Given the description of an element on the screen output the (x, y) to click on. 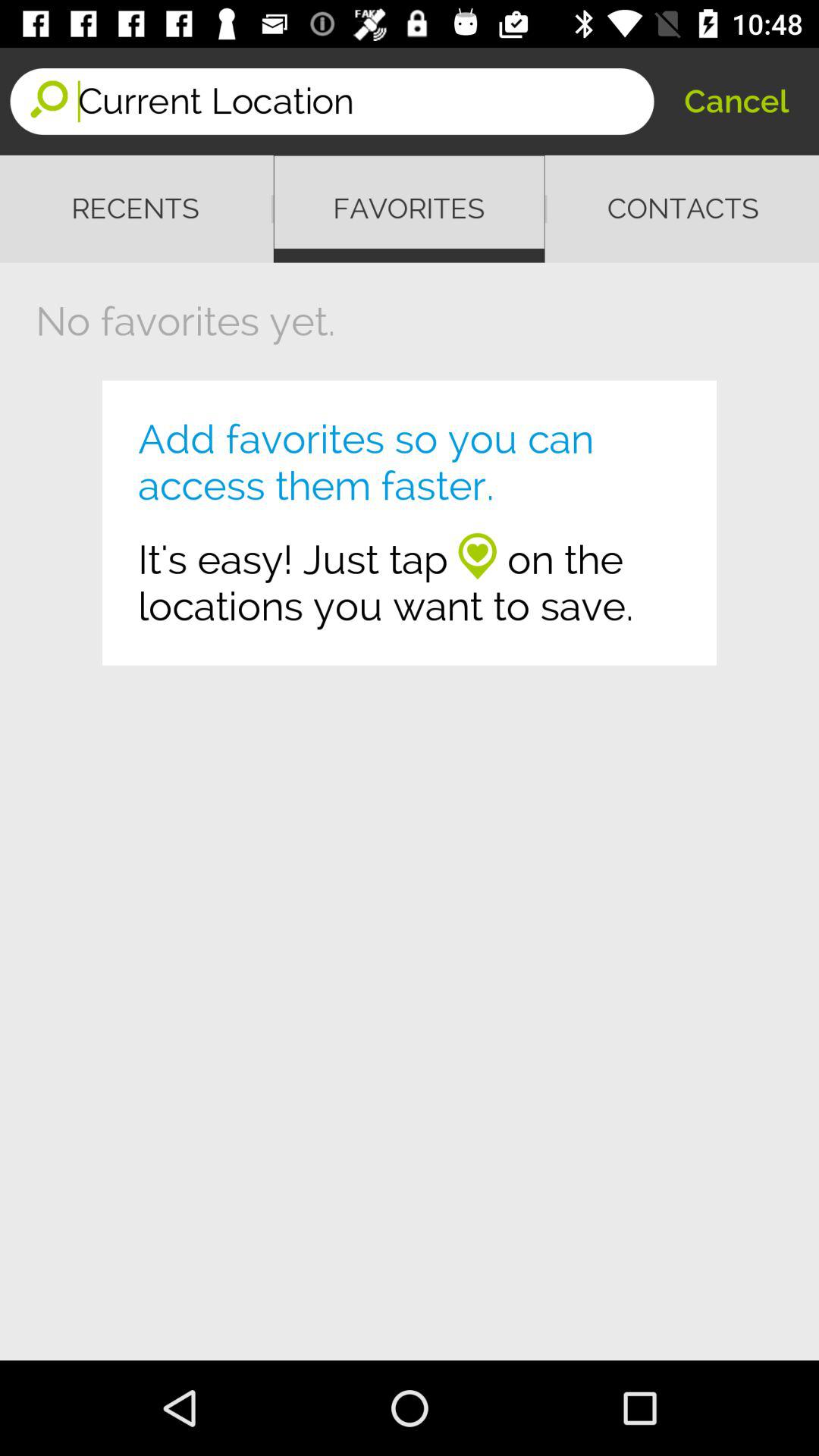
click cancel icon (736, 101)
